Given the description of an element on the screen output the (x, y) to click on. 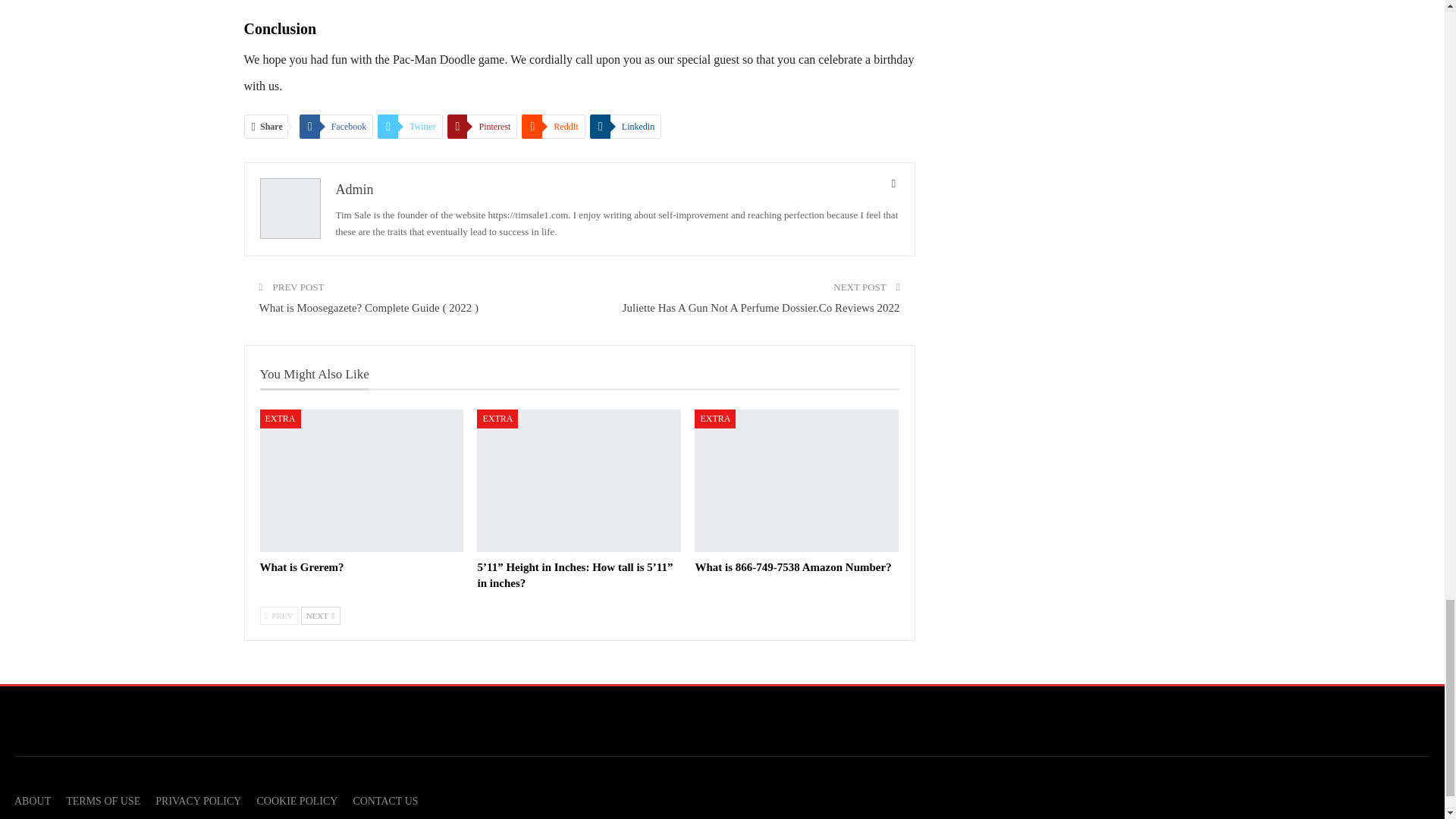
What is Grerem? (301, 567)
Facebook (336, 126)
Twitter (409, 126)
What is Grerem? (361, 480)
